Given the description of an element on the screen output the (x, y) to click on. 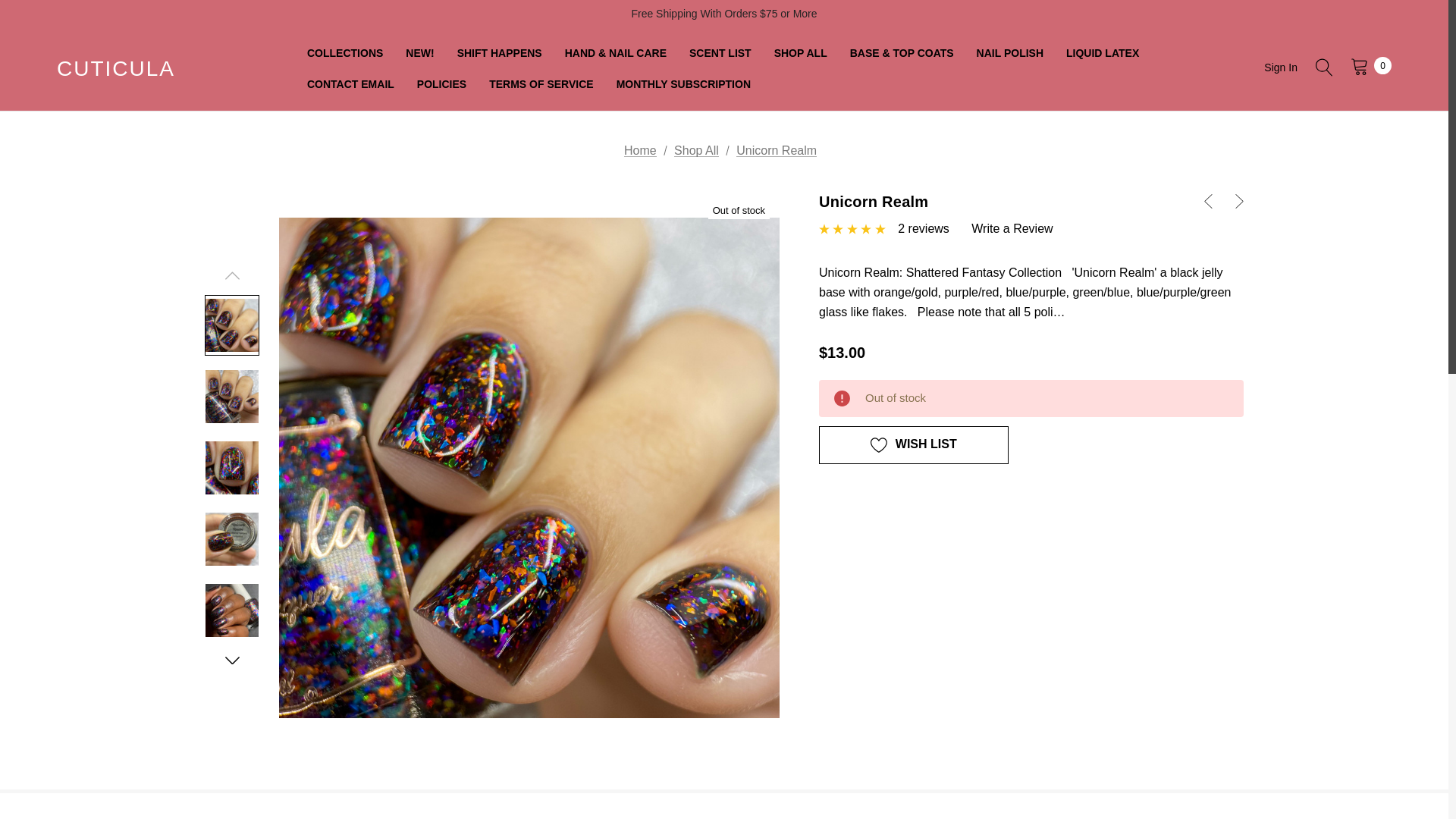
NAIL POLISH (1009, 52)
SHOP ALL (800, 52)
CONTACT EMAIL (350, 83)
SCENT LIST (720, 52)
0 (1365, 65)
COLLECTIONS (344, 52)
SHIFT HAPPENS (499, 52)
CUTICULA (115, 68)
MONTHLY SUBSCRIPTION (683, 83)
POLICIES (441, 83)
TERMS OF SERVICE (540, 83)
Sign In (1280, 67)
LIQUID LATEX (1102, 52)
NEW! (419, 52)
